Given the description of an element on the screen output the (x, y) to click on. 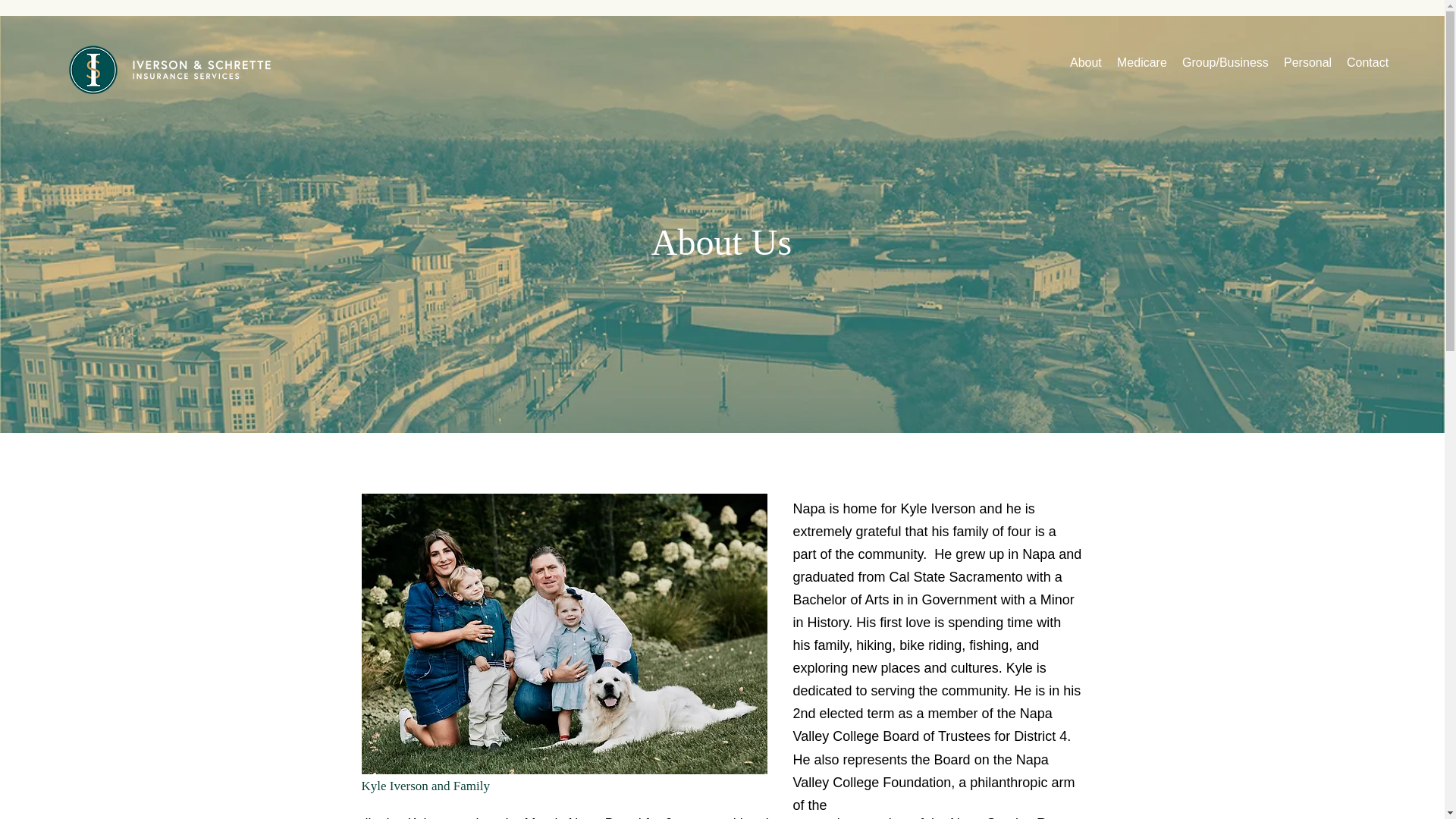
Kyle Iveson and Family (564, 633)
Personal (1307, 62)
Medicare (1141, 62)
About (1085, 62)
Contact (1367, 62)
